Given the description of an element on the screen output the (x, y) to click on. 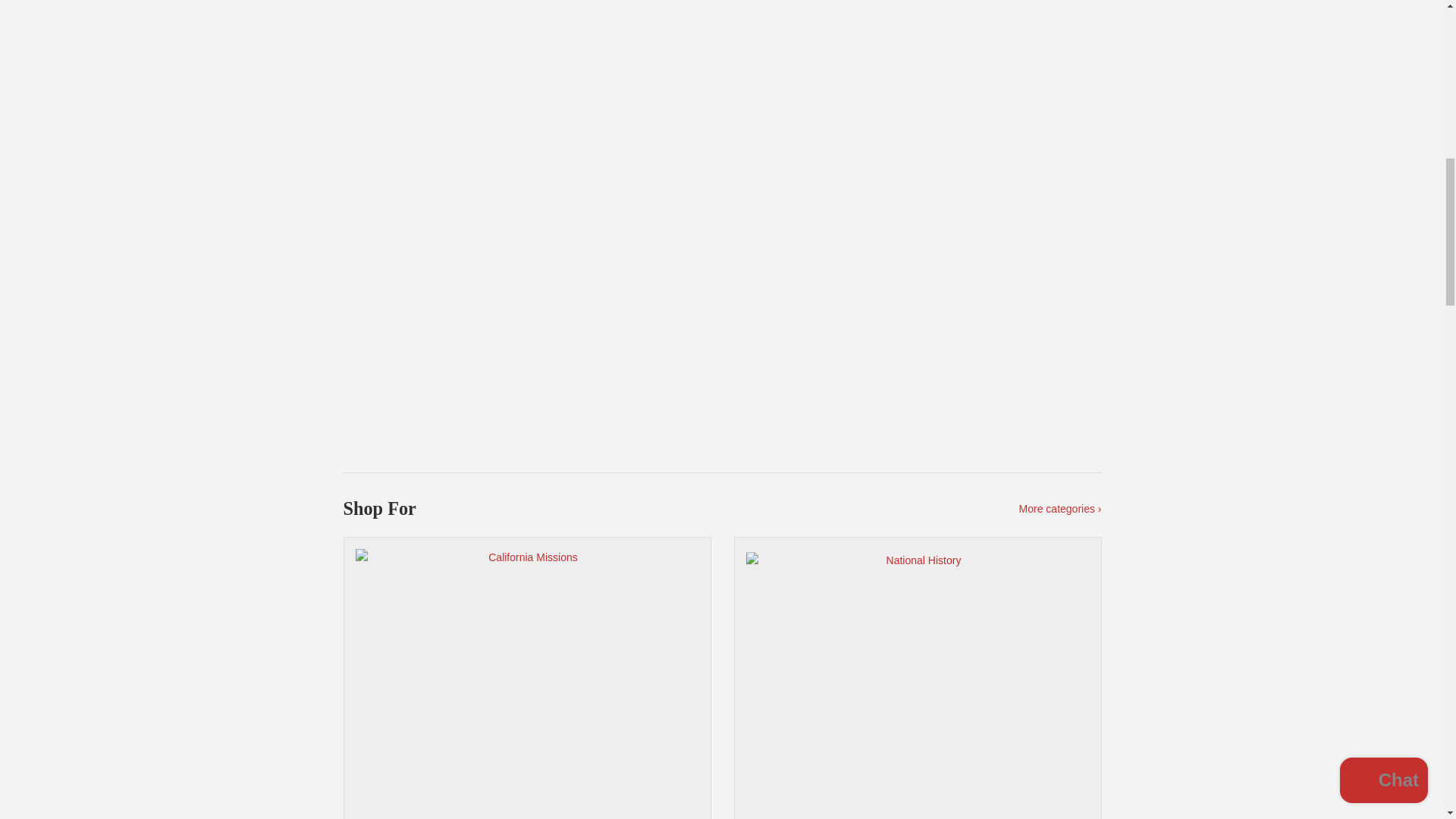
Browse our National History collection (917, 678)
California Missions (526, 678)
National History (917, 678)
Browse our California Missions collection (526, 678)
